Given the description of an element on the screen output the (x, y) to click on. 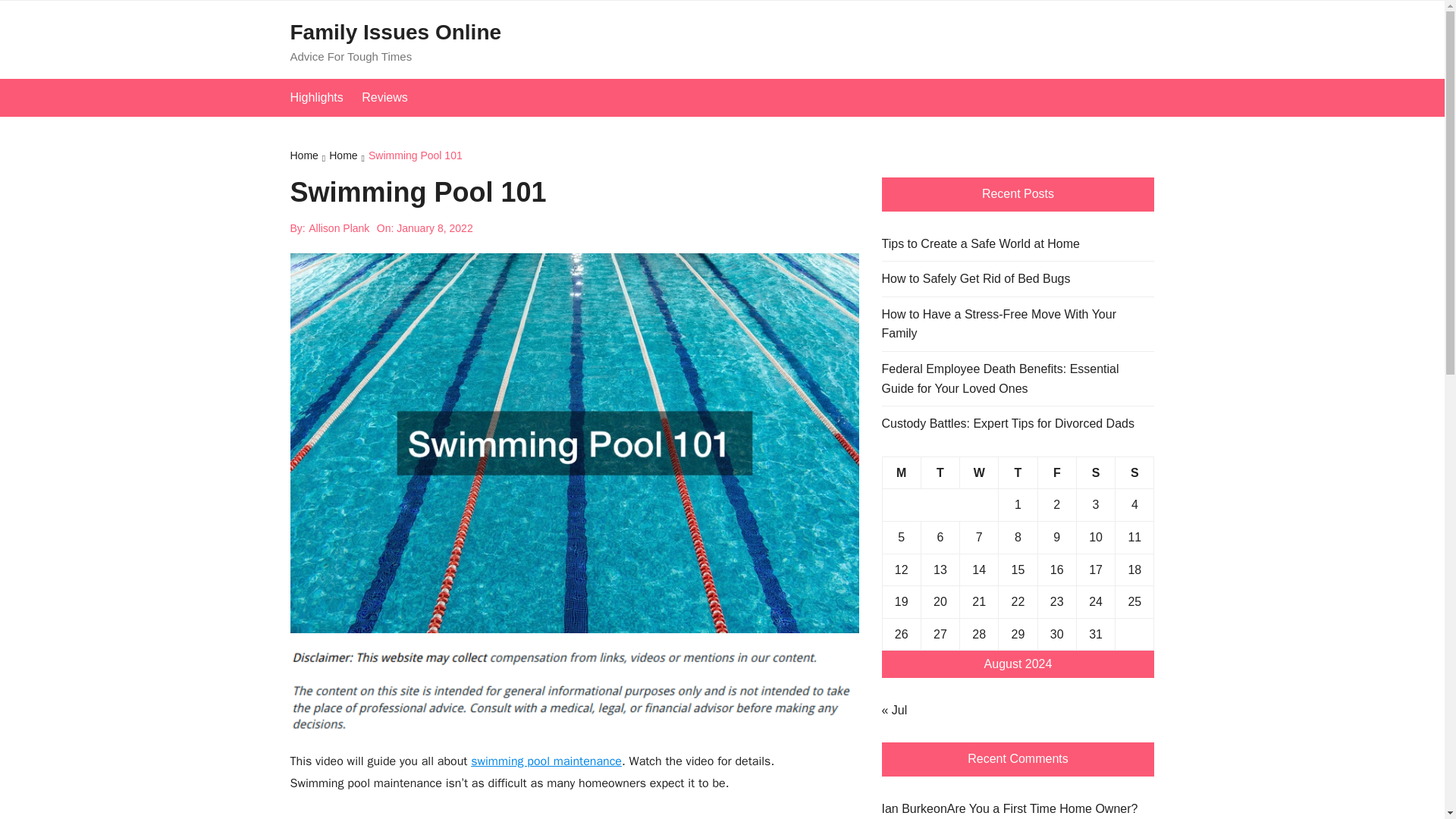
Highlights (323, 97)
Tuesday (939, 472)
Wednesday (978, 472)
How to Have a Stress-Free Move With Your Family (1017, 323)
swimming pool maintenance (545, 761)
Monday (901, 472)
January 8, 2022 (433, 228)
Swimming Pool 101 (415, 157)
Ian Burke (906, 808)
